Given the description of an element on the screen output the (x, y) to click on. 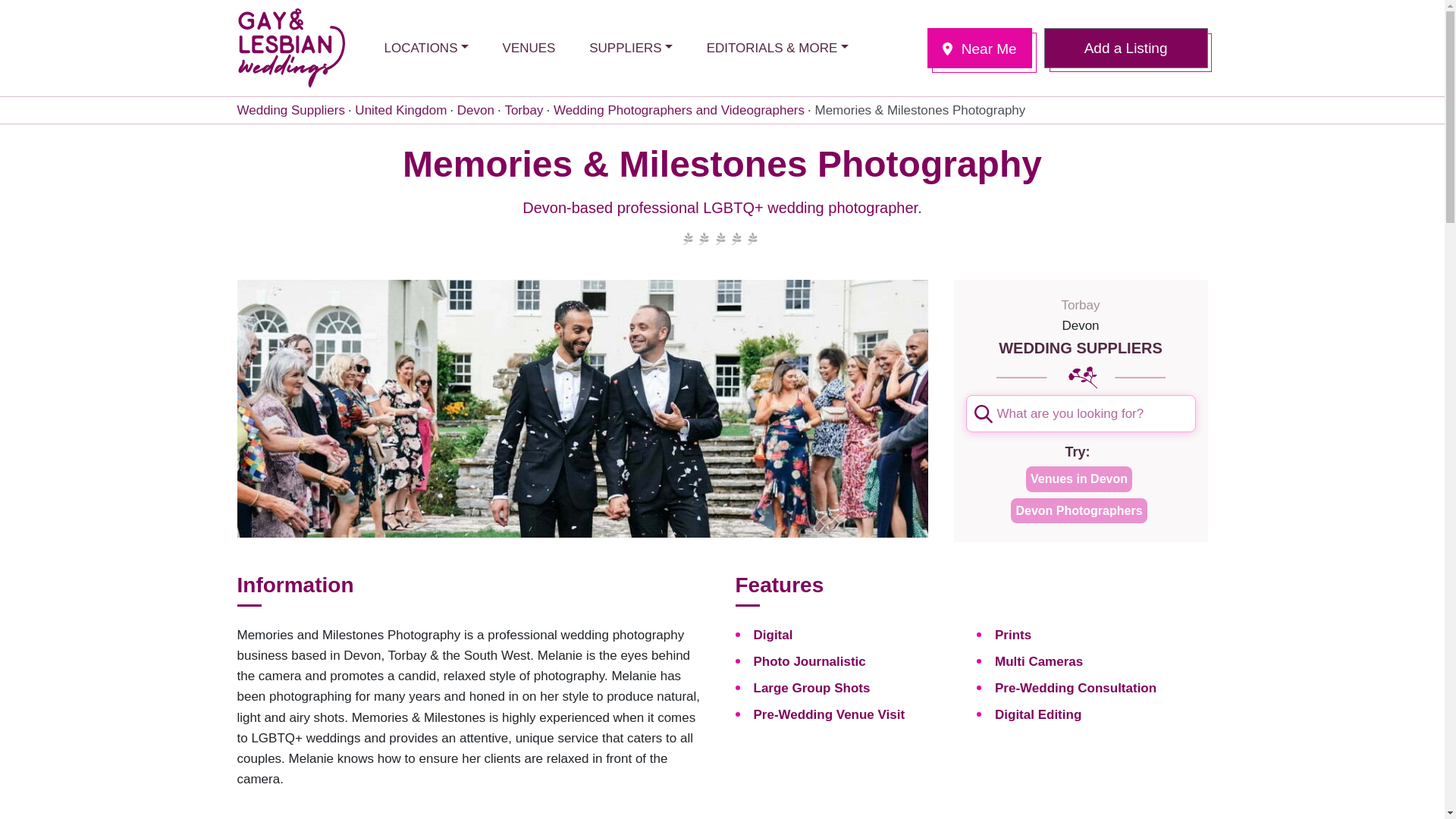
No rating yet! (719, 239)
Gay and Lesbian Weddings (289, 46)
LOCATIONS (425, 47)
